Given the description of an element on the screen output the (x, y) to click on. 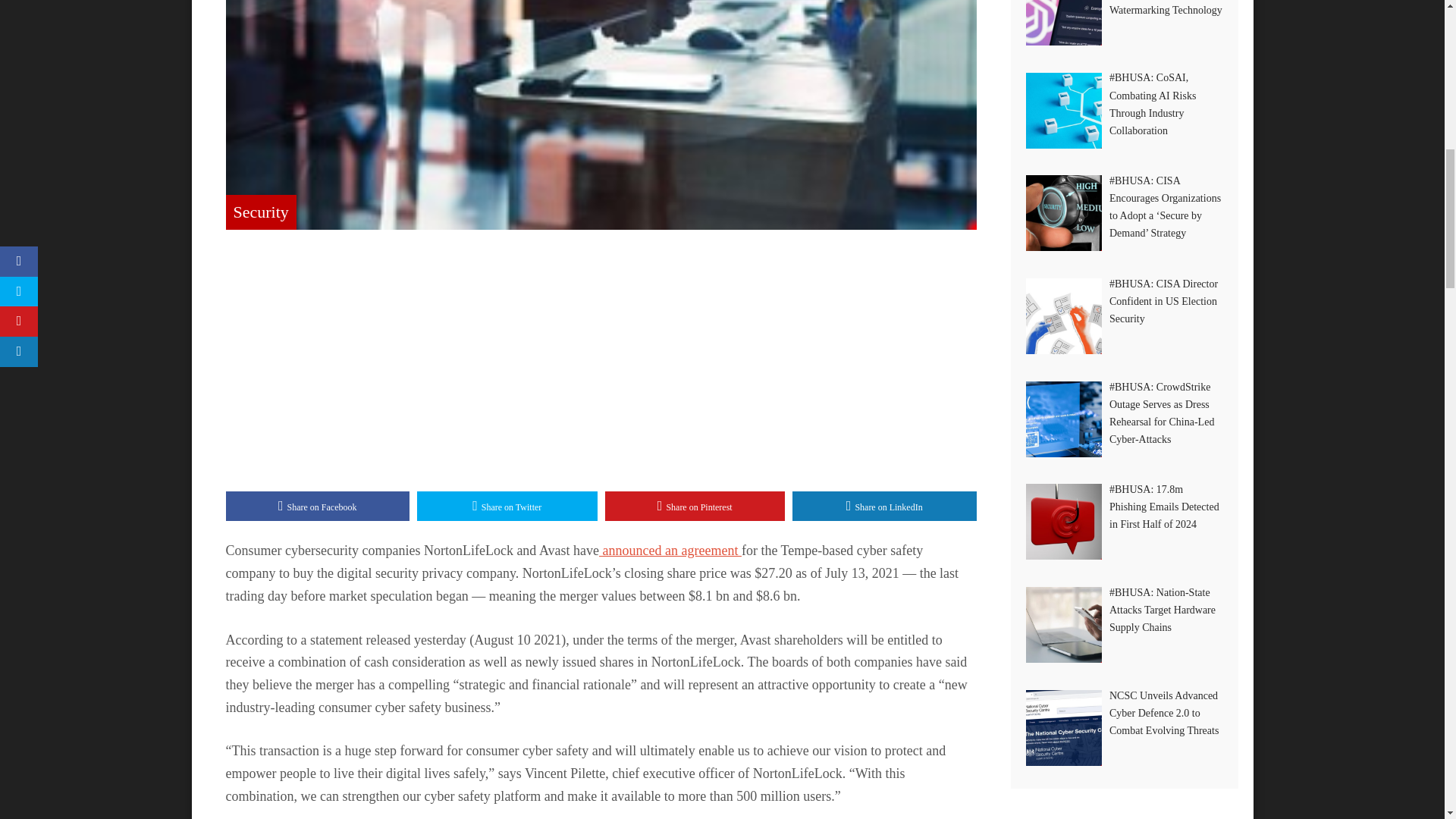
Share on Facebook (317, 506)
Share on LinkedIn (884, 506)
Share on Twitter (506, 506)
Security (260, 211)
Security (260, 211)
Share on Pinterest (695, 506)
